Given the description of an element on the screen output the (x, y) to click on. 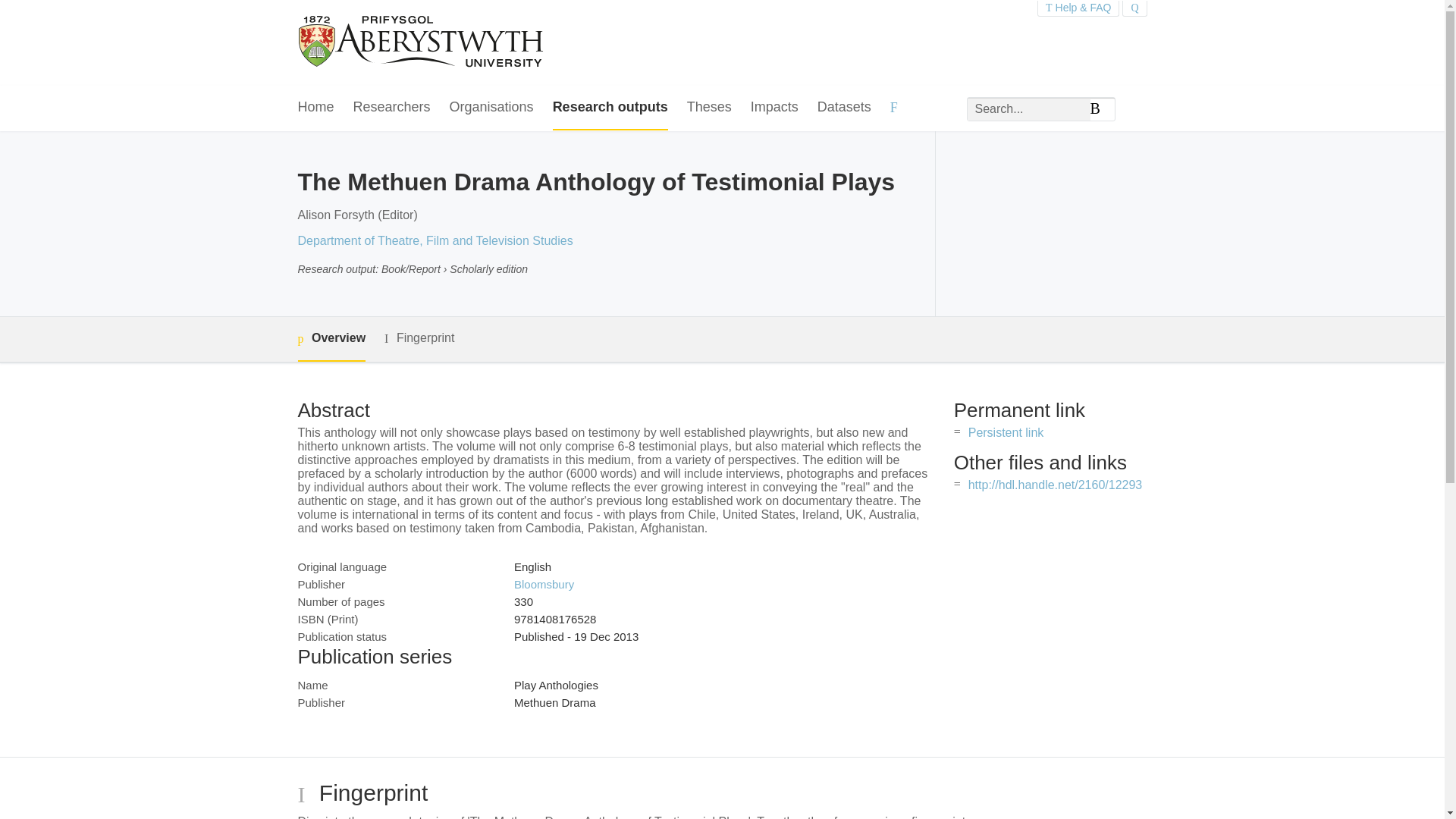
Research outputs (610, 107)
Persistent link (1005, 431)
Fingerprint (419, 338)
Aberystwyth Research Portal Home (422, 42)
Department of Theatre, Film and Television Studies (434, 240)
Organisations (491, 107)
Datasets (843, 107)
Bloomsbury (543, 584)
Impacts (774, 107)
